Given the description of an element on the screen output the (x, y) to click on. 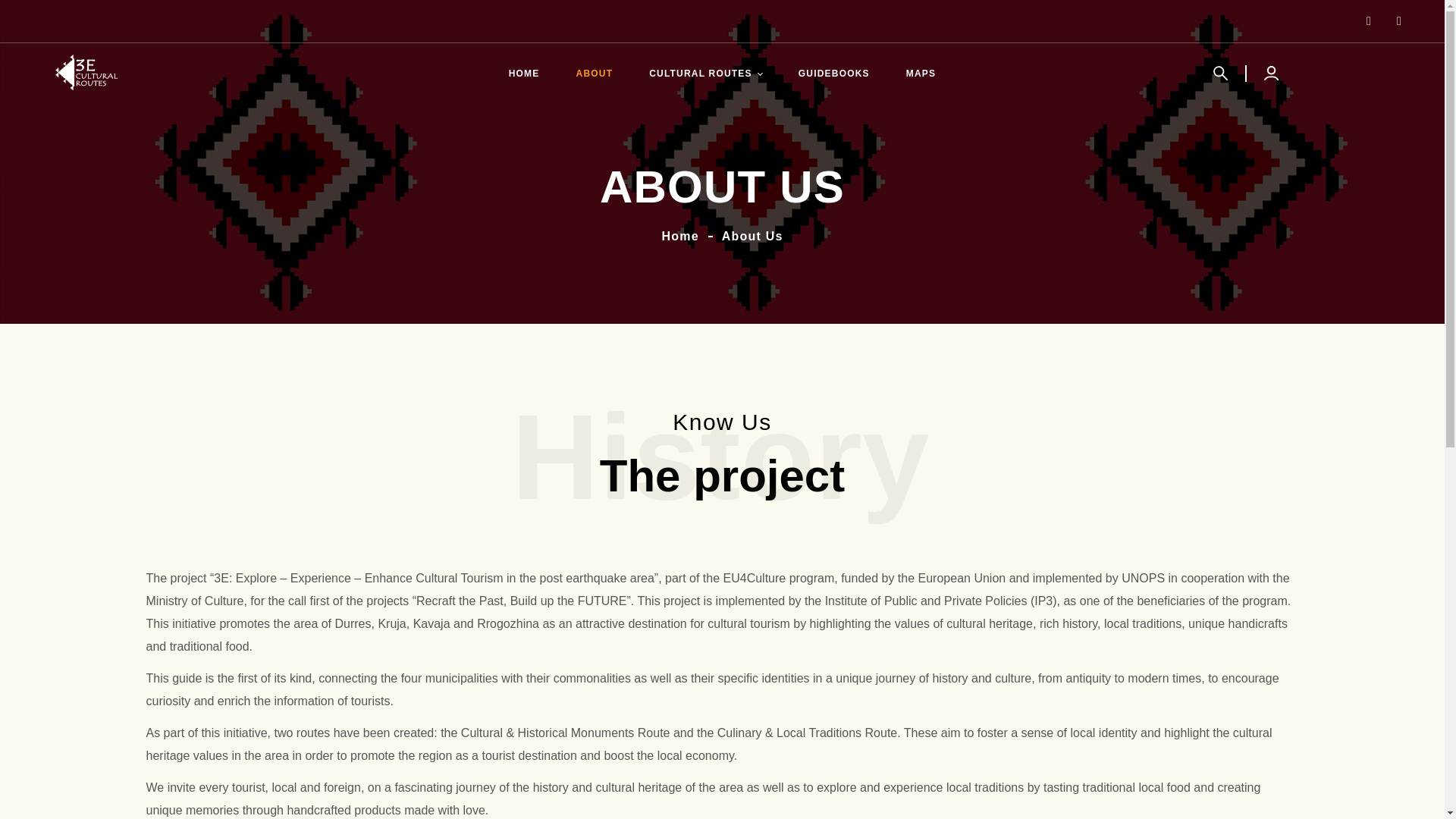
HOME (523, 73)
ABOUT (594, 73)
Home (680, 236)
CULTURAL ROUTES (705, 73)
MAPS (920, 73)
GUIDEBOOKS (834, 73)
